Given the description of an element on the screen output the (x, y) to click on. 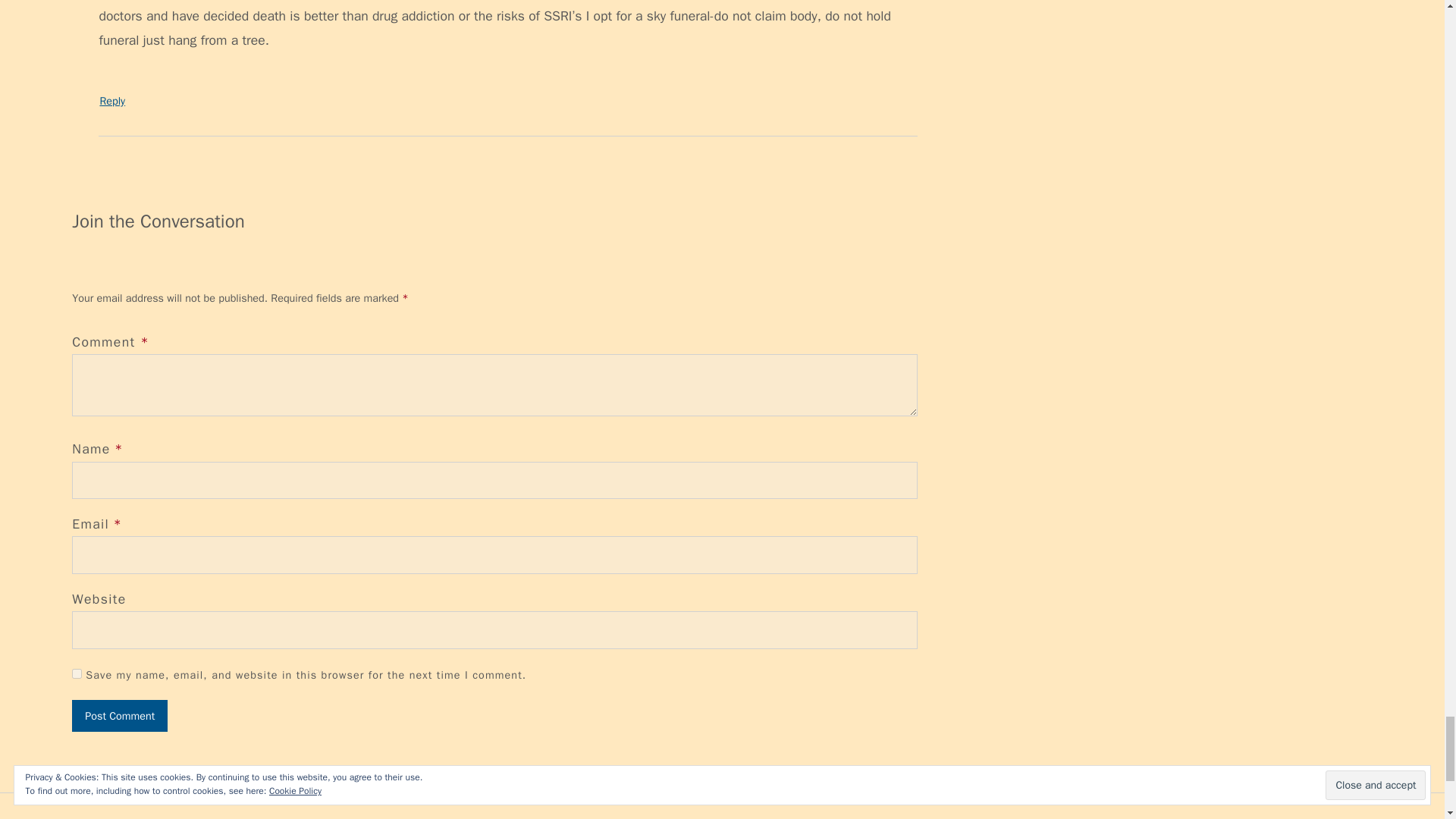
Post Comment (119, 716)
yes (76, 673)
